Given the description of an element on the screen output the (x, y) to click on. 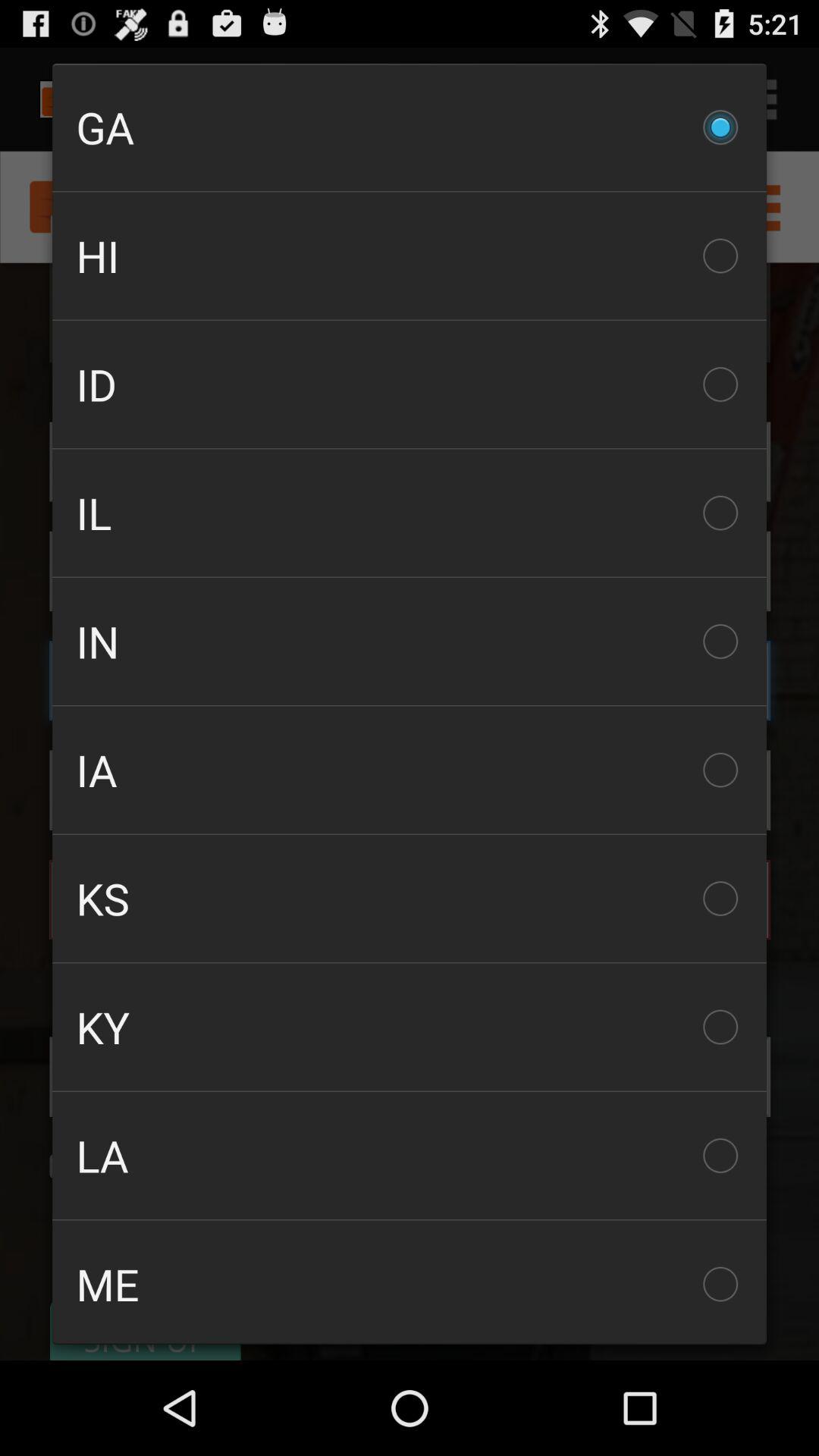
select the checkbox below the la (409, 1282)
